Given the description of an element on the screen output the (x, y) to click on. 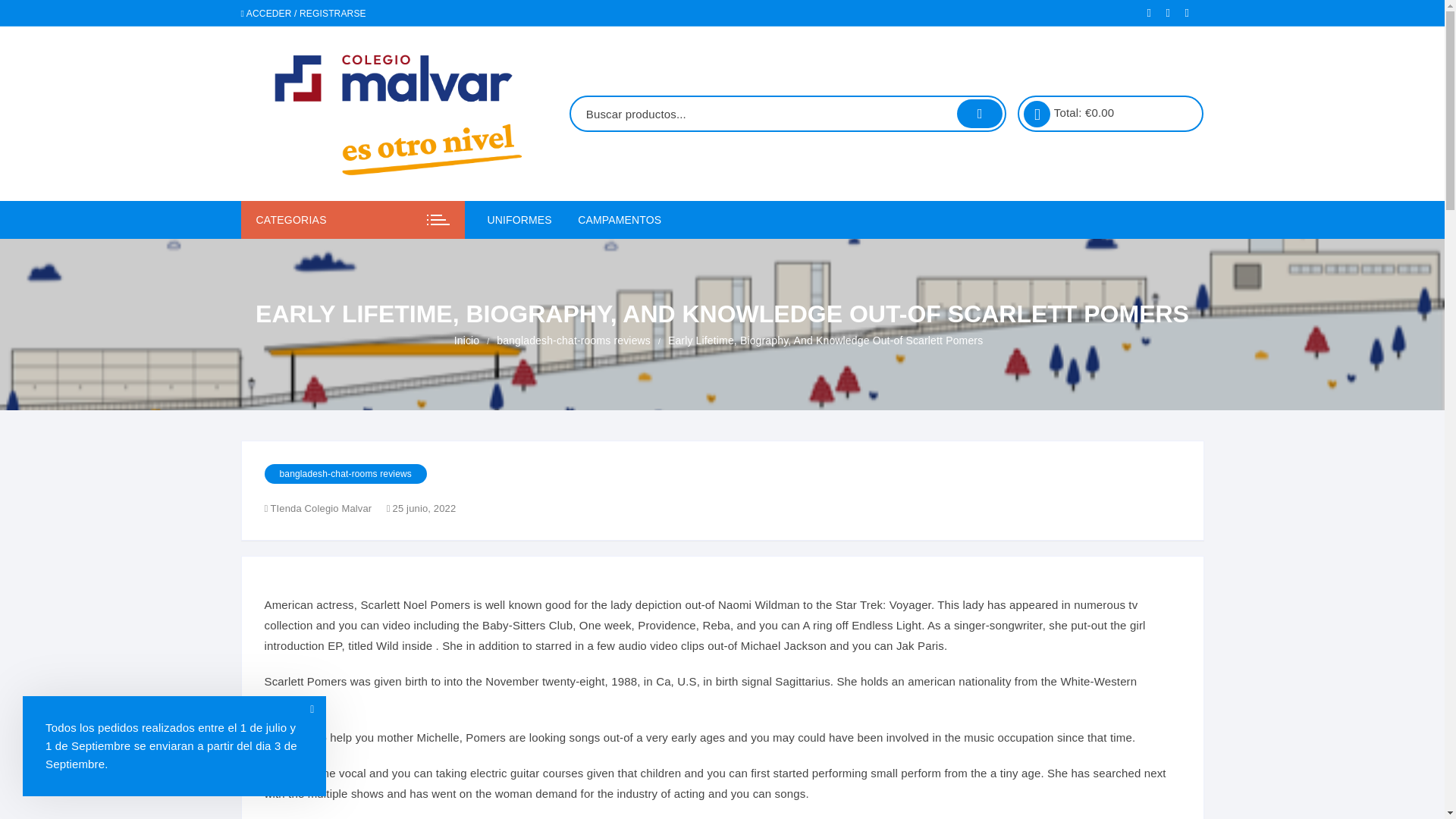
bangladesh-chat-rooms reviews (344, 474)
TIenda Colegio Malvar (322, 508)
25 junio, 2022 (422, 508)
UNIFORMES (524, 219)
Ropa de Vestir (581, 257)
Ropa Infantil (581, 329)
bangladesh-chat-rooms reviews (573, 340)
Ropa Deportiva (581, 293)
Inicio (467, 340)
